Given the description of an element on the screen output the (x, y) to click on. 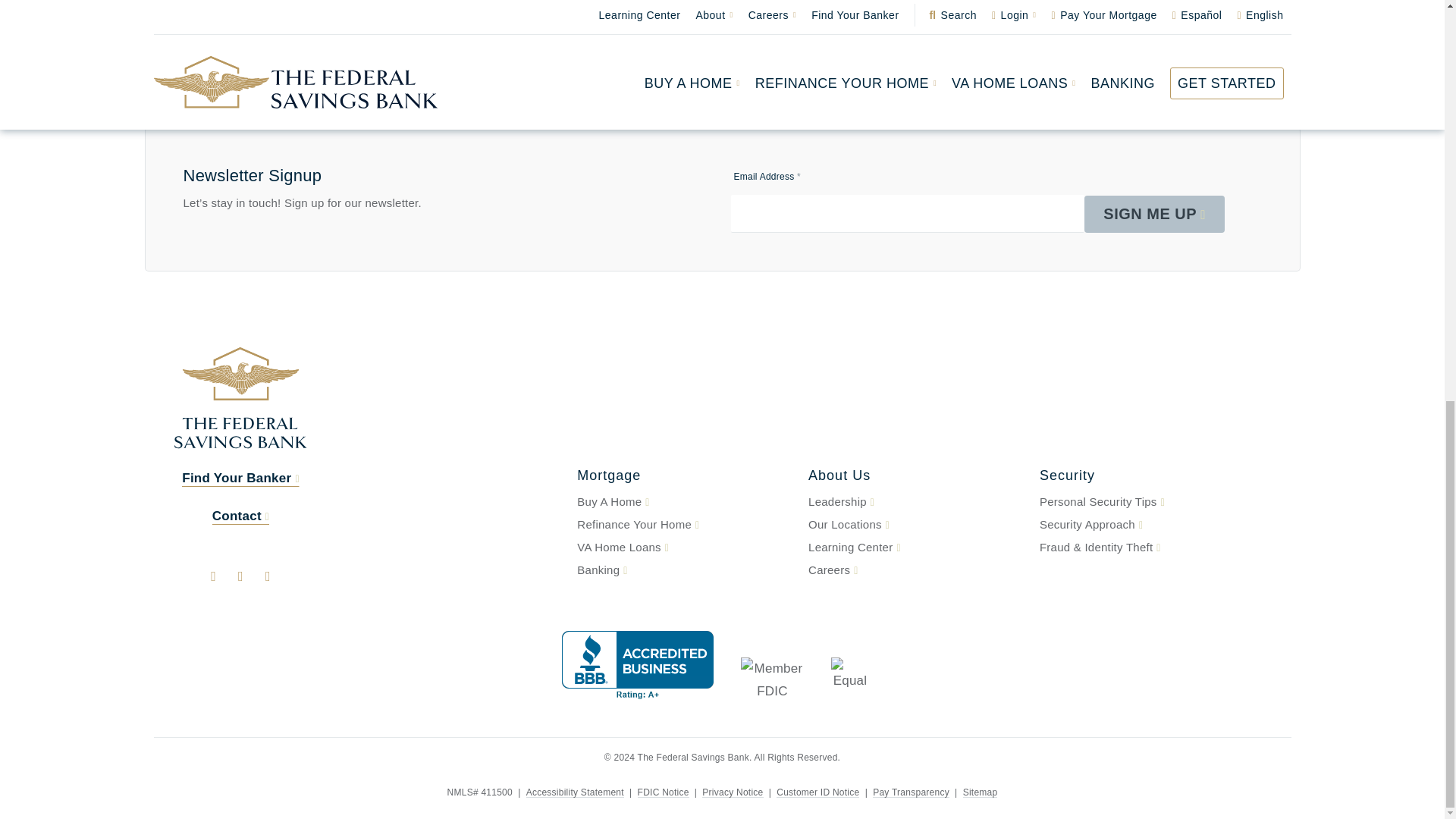
FDIC Notice (662, 792)
Our Locations (915, 524)
Leadership (915, 501)
Refinance Your Home (683, 524)
Accessibility Statement (574, 792)
Banking (683, 570)
Personal Security Tips (1145, 501)
VA Home Loans (683, 547)
Security Approach (1145, 524)
Learning Center (915, 547)
